Given the description of an element on the screen output the (x, y) to click on. 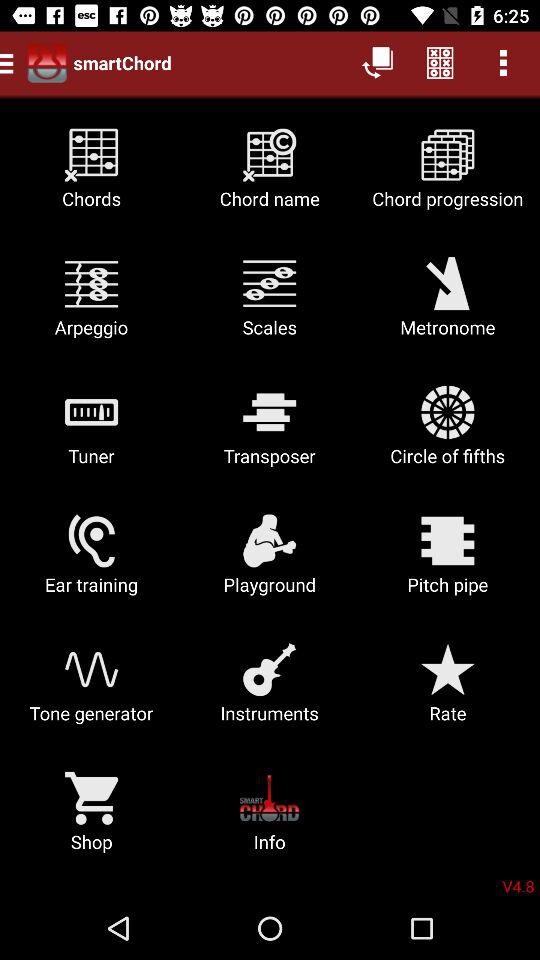
click playground icon (269, 561)
